Given the description of an element on the screen output the (x, y) to click on. 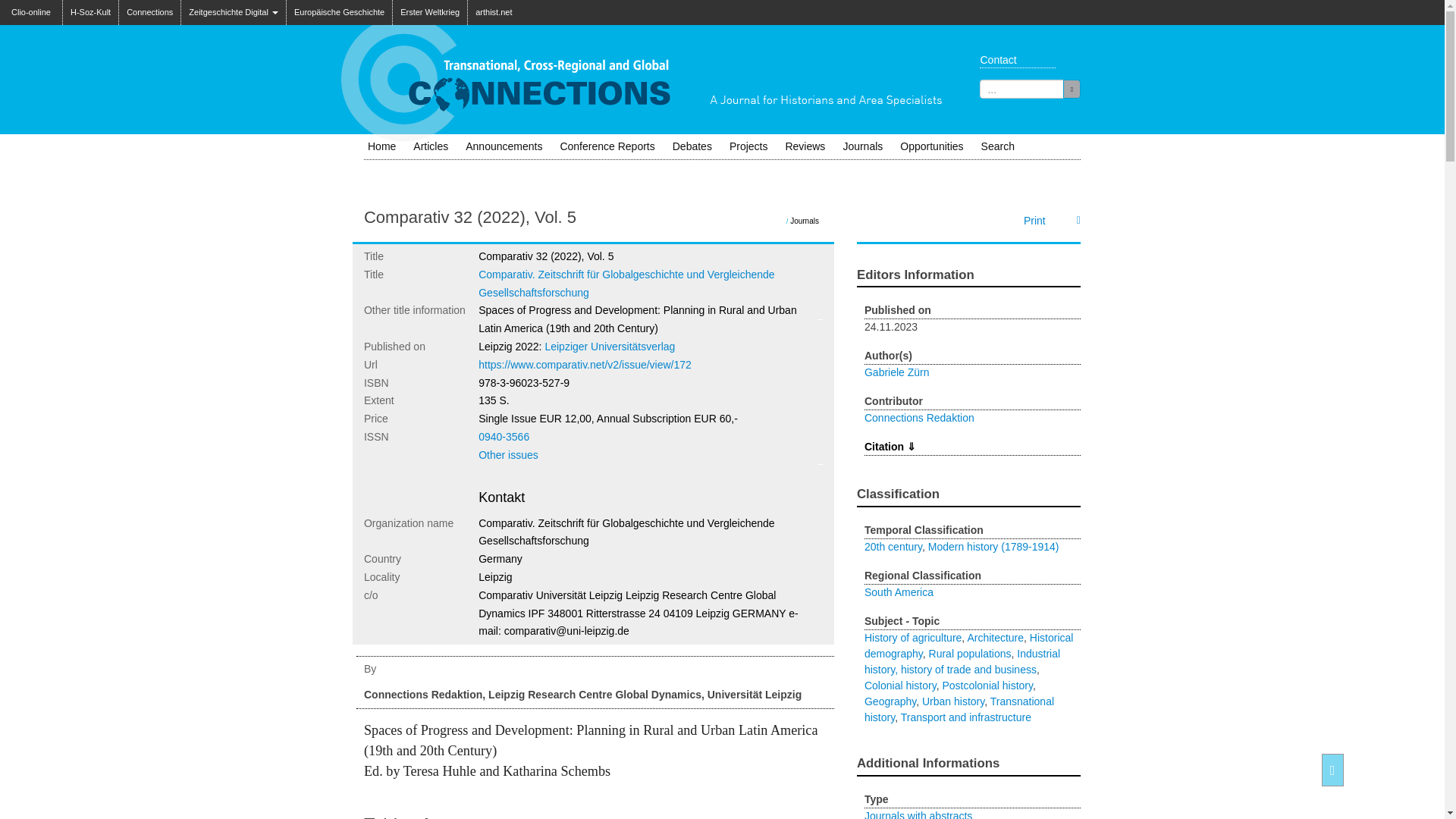
Articles (430, 146)
Search (998, 146)
Contact (1013, 59)
Other issues (508, 454)
arthist.net (493, 12)
Projects (749, 146)
Home (381, 146)
Zeitgeschichte Digital (232, 12)
Journals (861, 146)
Reviews (804, 146)
